Given the description of an element on the screen output the (x, y) to click on. 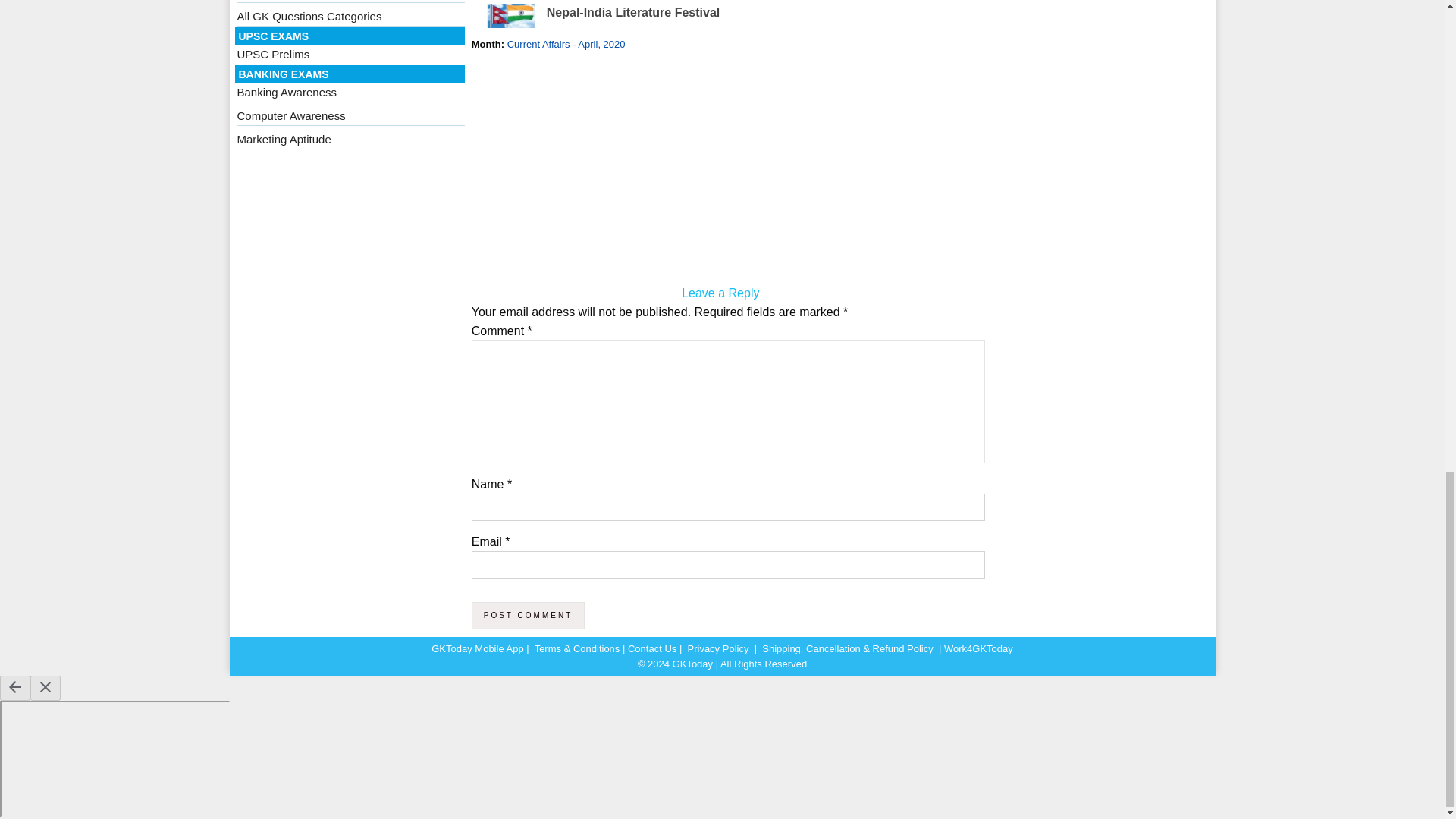
Post Comment (528, 615)
Nepal-India Literature Festival (633, 11)
Current Affairs - April, 2020 (566, 43)
Advertisement (720, 170)
Nepal-India Literature Festival (633, 11)
Post Comment (528, 615)
